Given the description of an element on the screen output the (x, y) to click on. 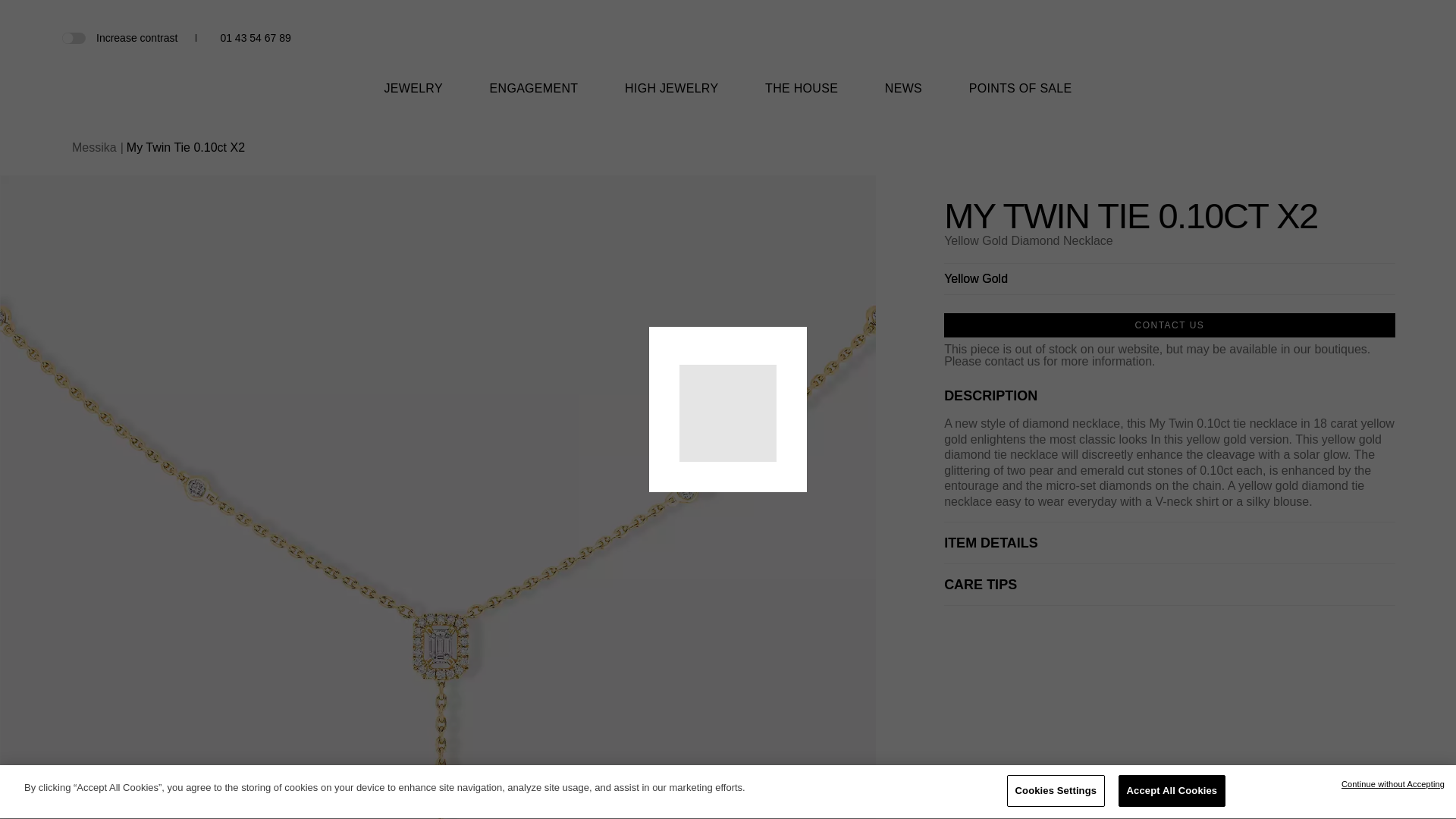
Wishlist (1360, 38)
Search (1335, 39)
01 43 54 67 89 (254, 37)
Messika (727, 46)
Wishlist (1360, 37)
on (73, 36)
01 43 54 67 89 (254, 37)
JEWELRY (413, 97)
Messika (727, 57)
